Given the description of an element on the screen output the (x, y) to click on. 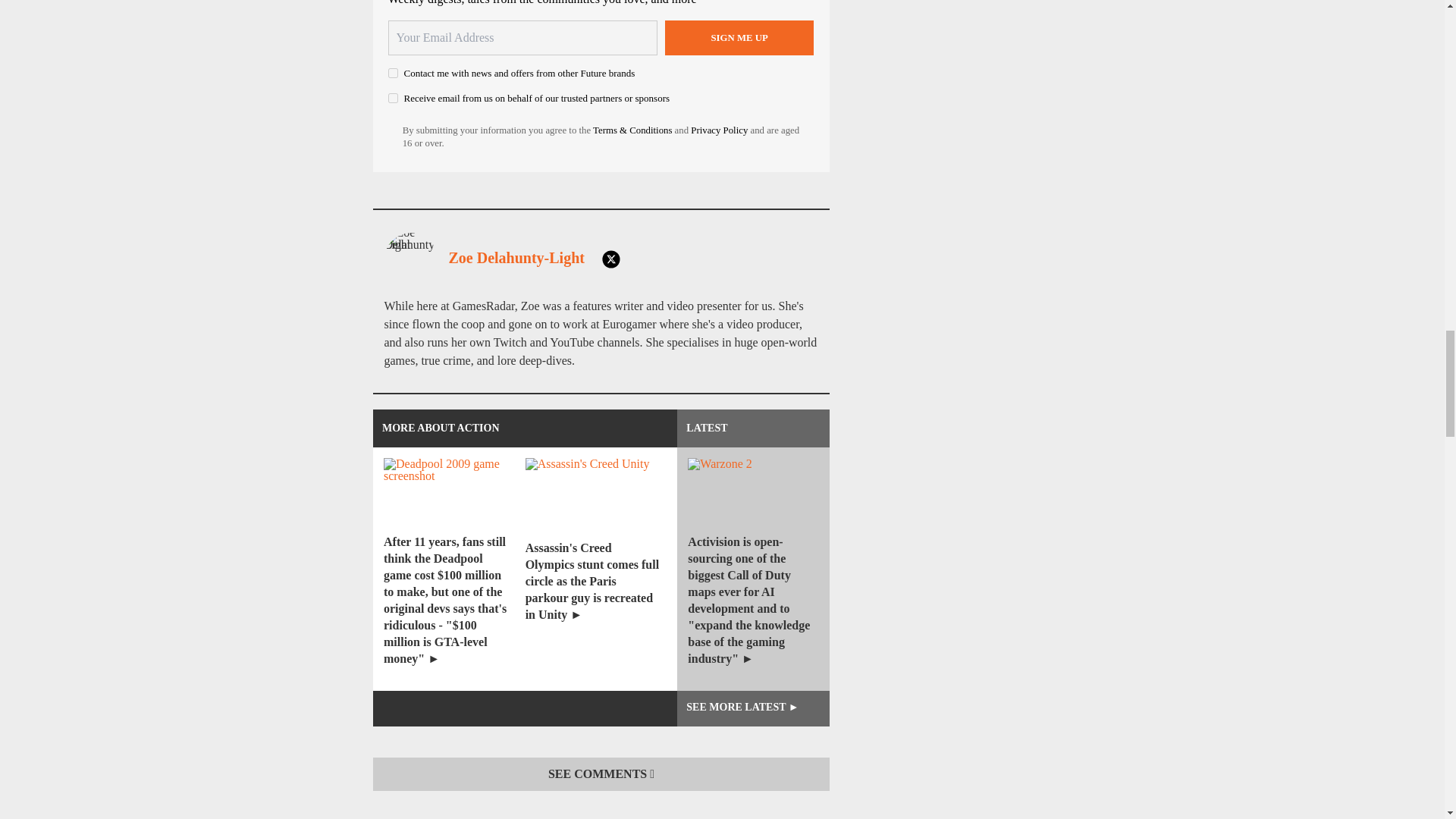
Sign me up (739, 37)
on (392, 72)
on (392, 98)
